Given the description of an element on the screen output the (x, y) to click on. 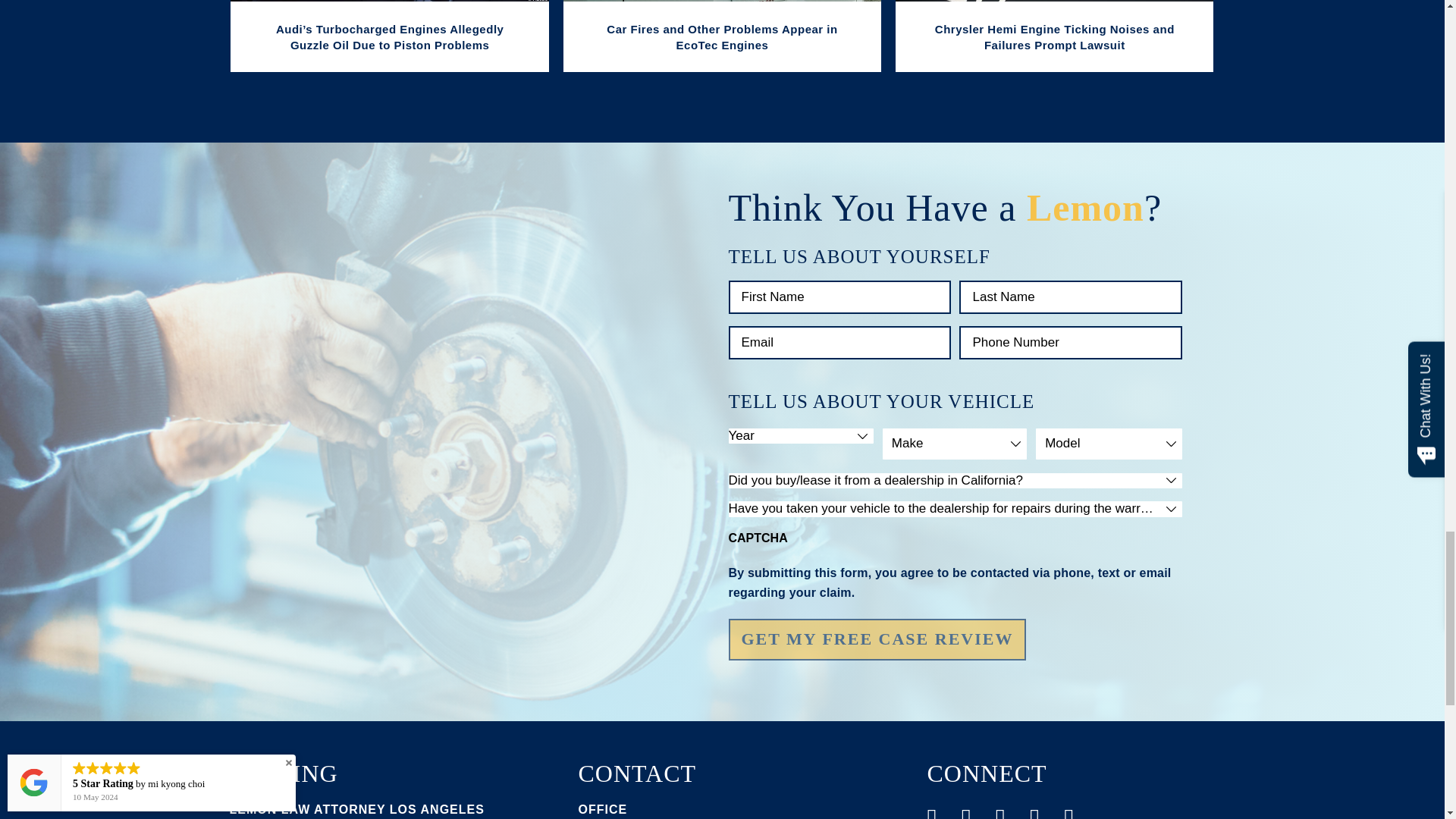
Get My Free Case Review (877, 639)
